Given the description of an element on the screen output the (x, y) to click on. 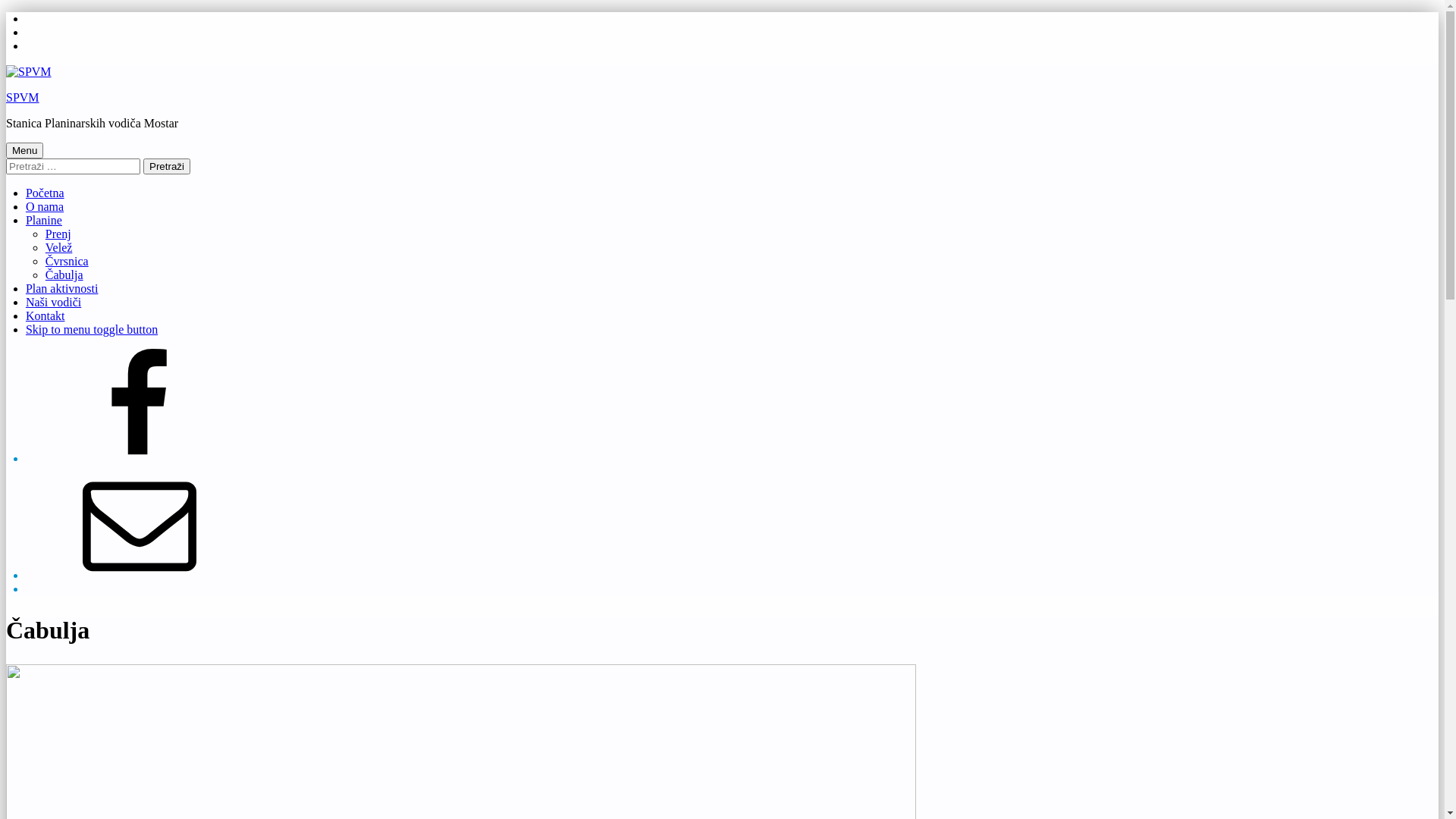
SPVM Element type: text (22, 97)
Kontakt Element type: text (45, 315)
Planine Element type: text (43, 219)
Skip to footer Element type: text (25, 38)
Prenj Element type: text (58, 233)
Skip to menu toggle button Element type: text (91, 329)
Plan aktivnosti Element type: text (61, 288)
Skip to main content Element type: text (25, 25)
Skip to main navigation Element type: text (25, 11)
Menu Element type: text (24, 150)
O nama Element type: text (44, 206)
